Given the description of an element on the screen output the (x, y) to click on. 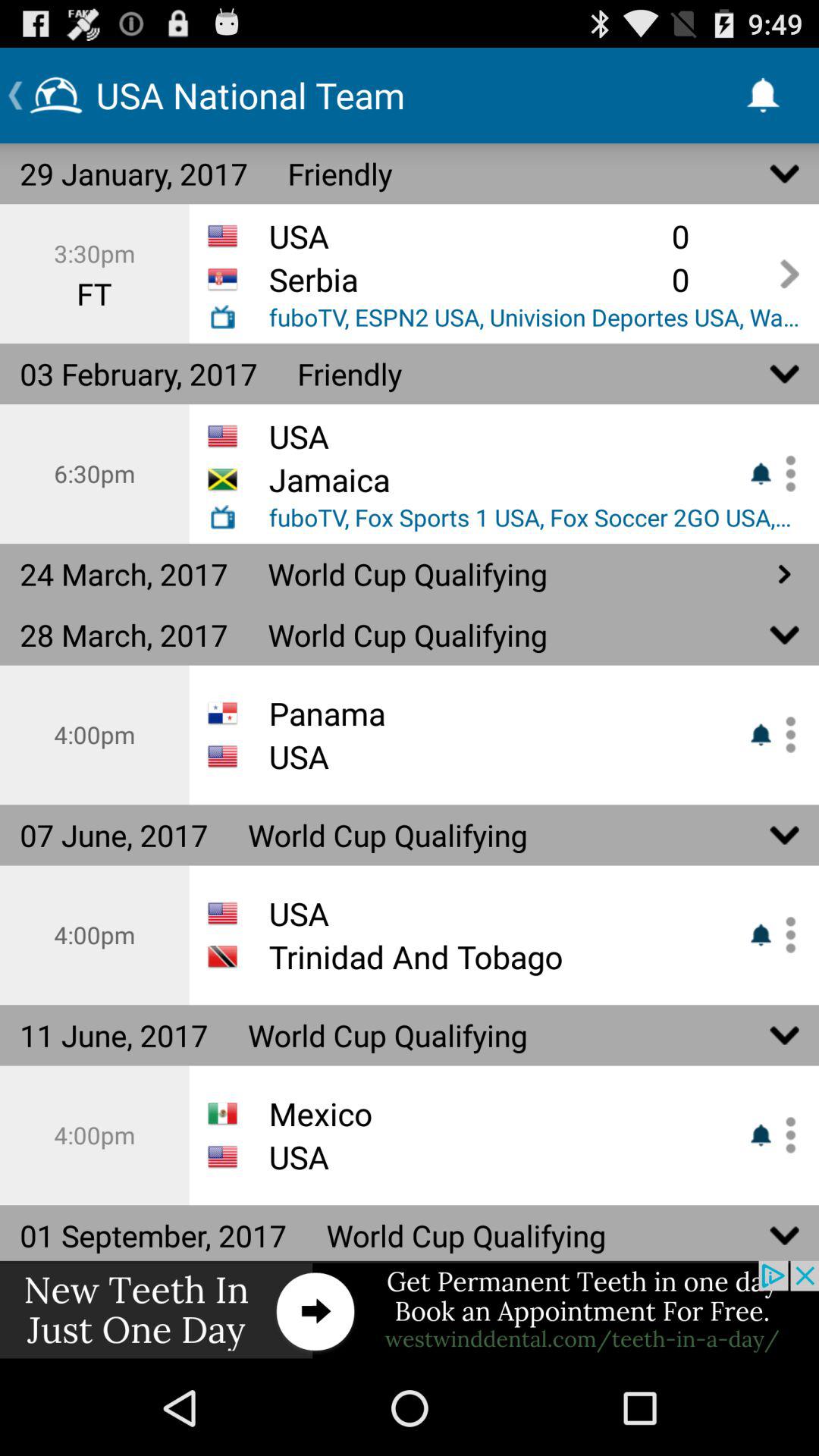
click to more information (785, 473)
